Given the description of an element on the screen output the (x, y) to click on. 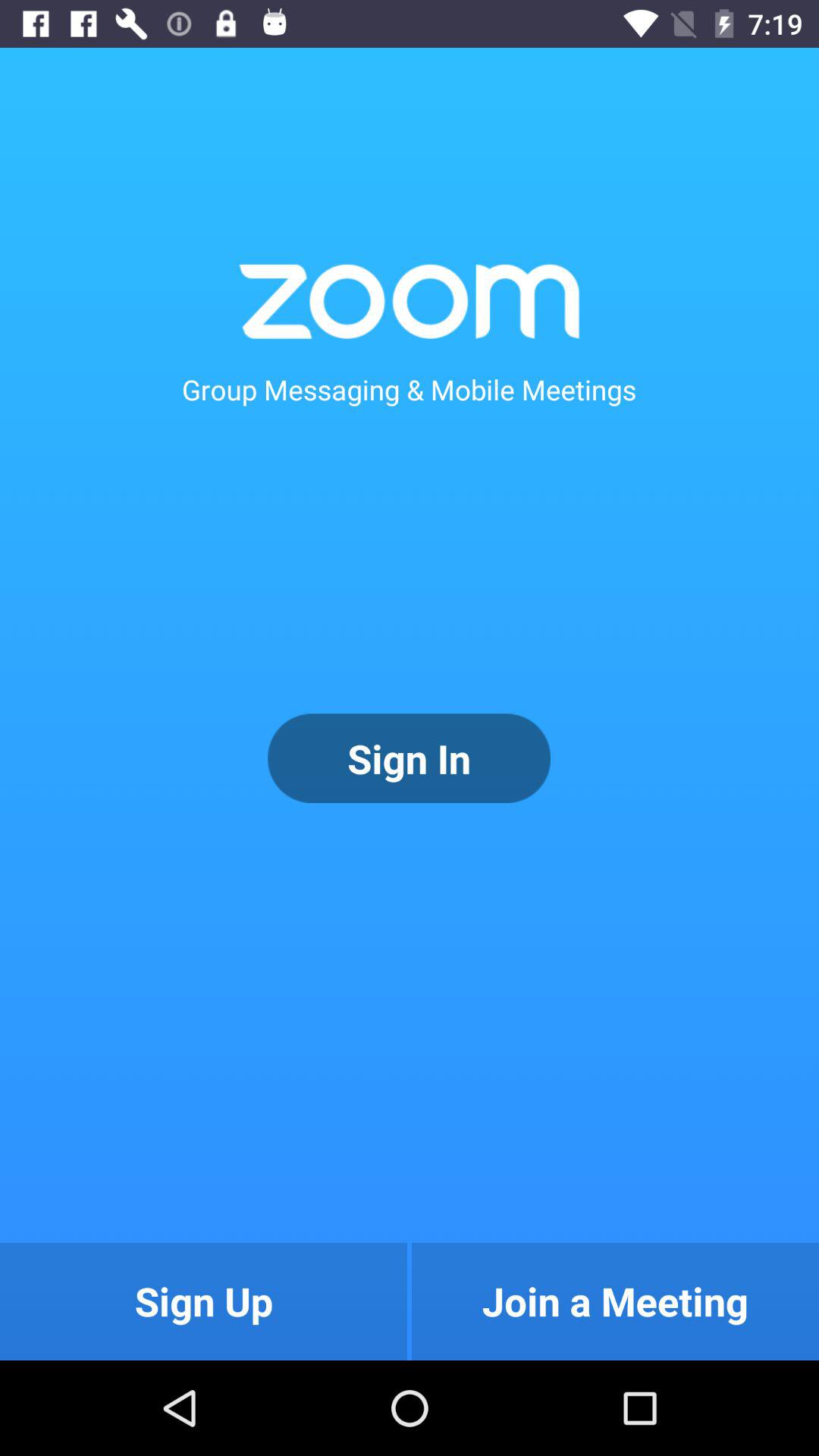
press the button next to the sign up icon (615, 1301)
